Given the description of an element on the screen output the (x, y) to click on. 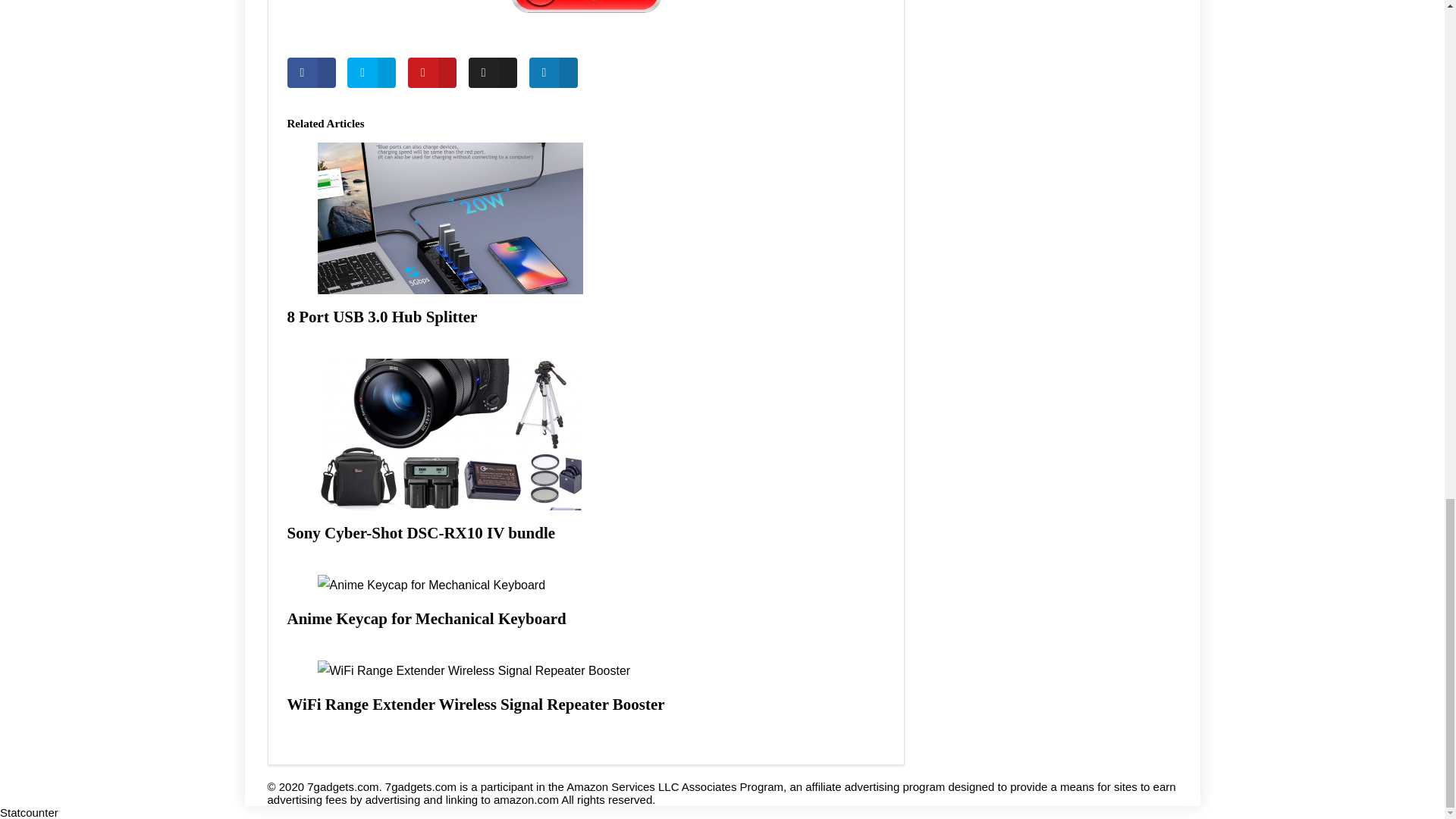
Sony Cyber-Shot DSC-RX10 IV bundle (420, 533)
8 Port USB 3.0 Hub Splitter (381, 316)
WiFi Range Extender Wireless Signal Repeater Booster (474, 704)
Anime Keycap for Mechanical Keyboard (426, 618)
Buy now! (585, 6)
